Given the description of an element on the screen output the (x, y) to click on. 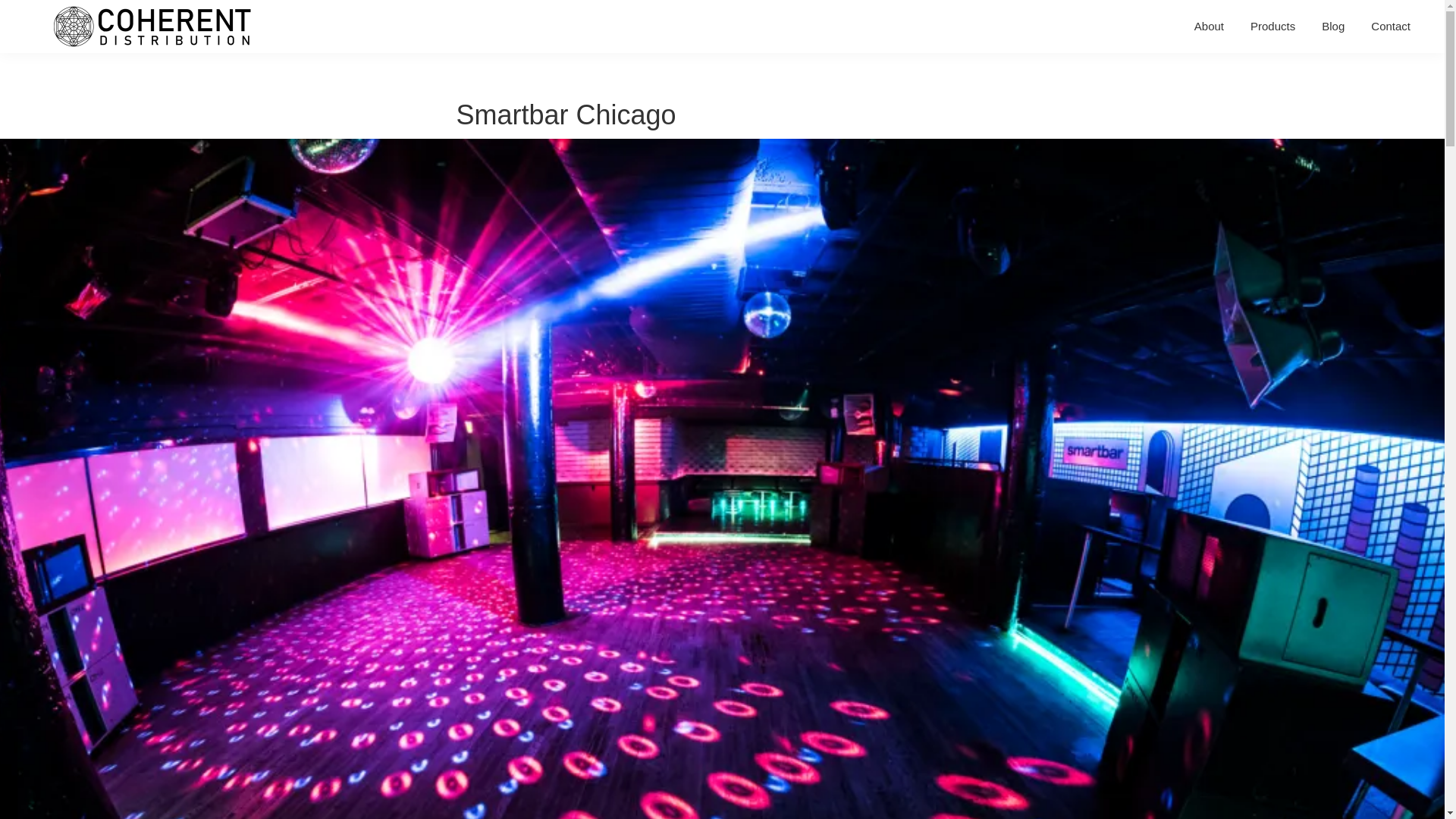
About (1208, 25)
Blog (1332, 25)
Products (1272, 25)
Contact (1390, 25)
